Given the description of an element on the screen output the (x, y) to click on. 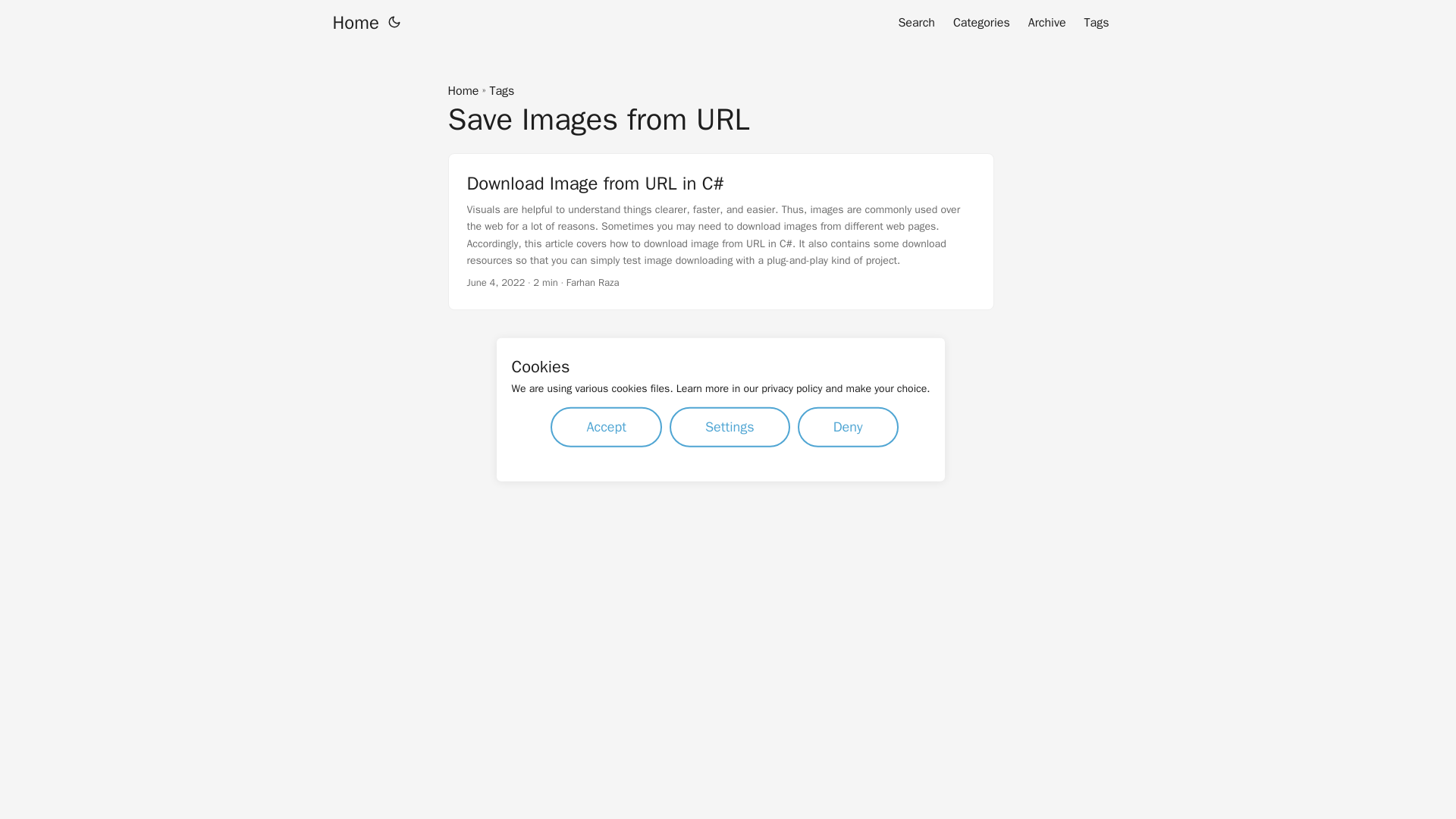
Settings (729, 426)
privacy policy (791, 388)
Deny (847, 426)
Accept (606, 426)
Home (354, 22)
Home (462, 91)
Categories (981, 22)
Categories (981, 22)
Tags (501, 91)
